Given the description of an element on the screen output the (x, y) to click on. 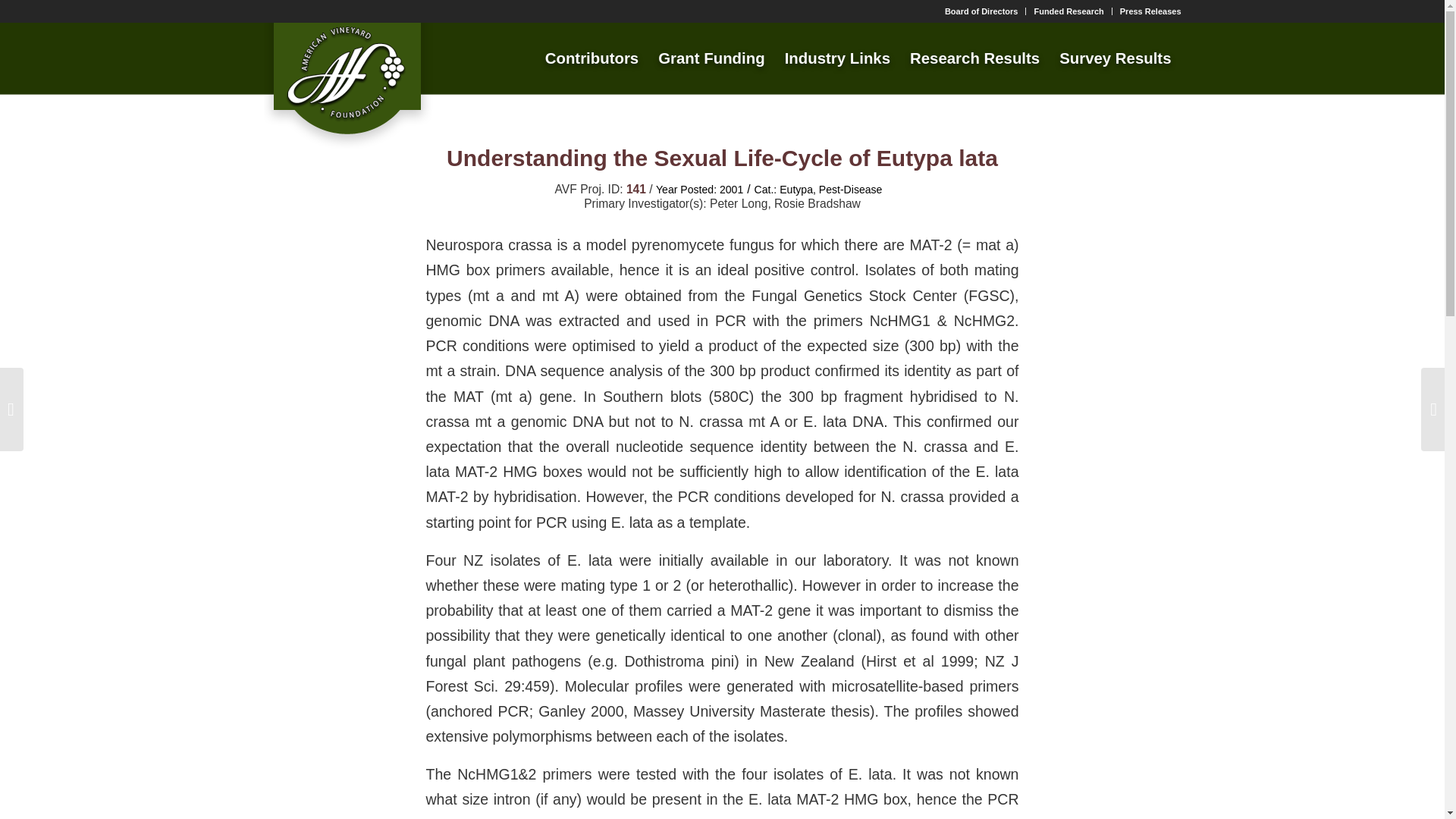
Board of Directors (980, 11)
Pest-Disease (850, 189)
Contributors (591, 58)
Survey Results (1114, 58)
Eutypa (795, 189)
Research Results (974, 58)
Grant Funding (710, 58)
Industry Links (836, 58)
Funded Research (1068, 11)
Press Releases (1149, 11)
